Given the description of an element on the screen output the (x, y) to click on. 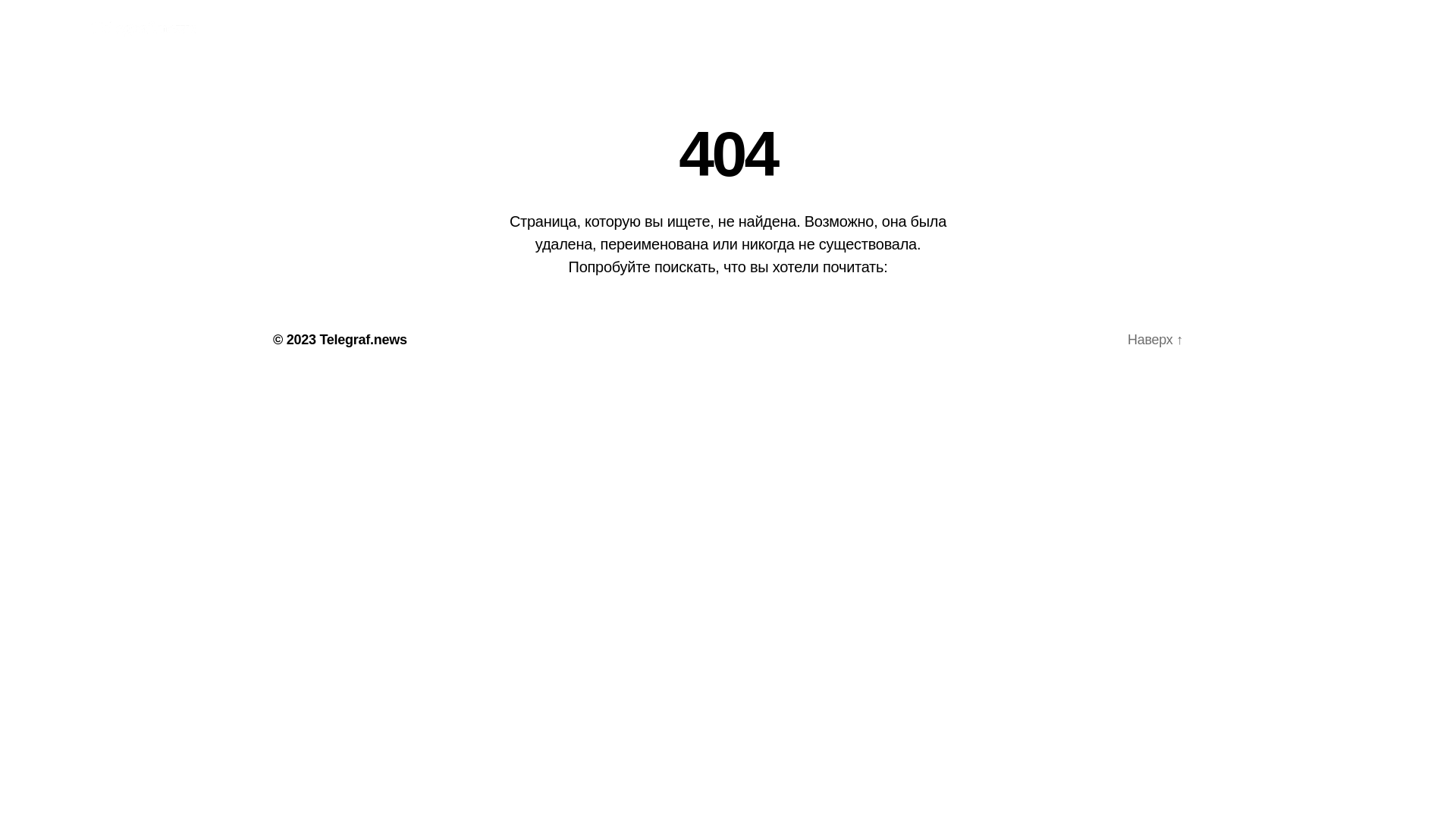
Telegraf.news Element type: text (362, 339)
